Given the description of an element on the screen output the (x, y) to click on. 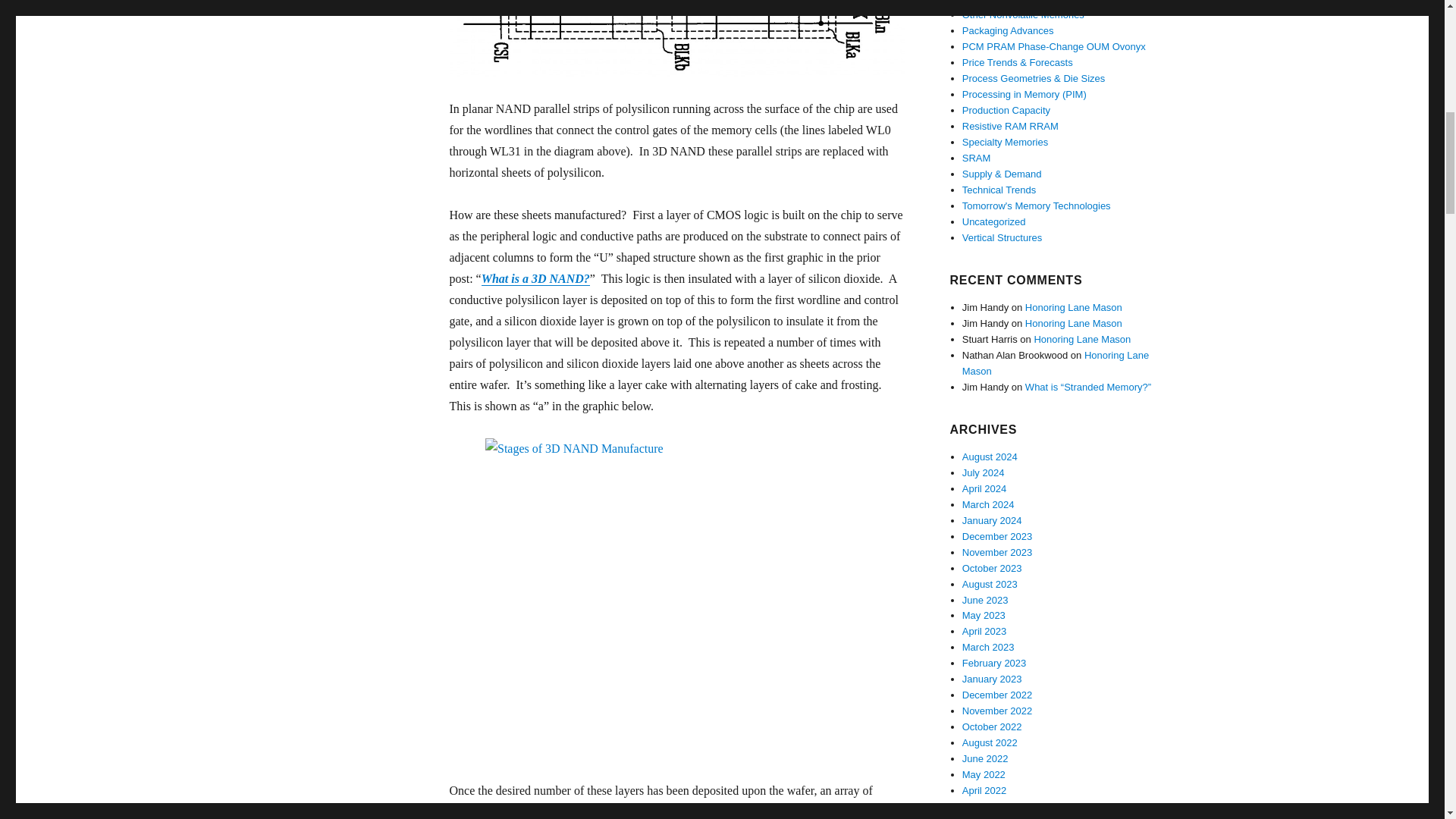
NAND Flash Array Circuit Diagram from US Patent 7,193,897 (676, 38)
What is a 3D NAND? (535, 278)
Stages of 3D NAND Manufacture (675, 598)
What is a 3D NAND? (535, 278)
